Given the description of an element on the screen output the (x, y) to click on. 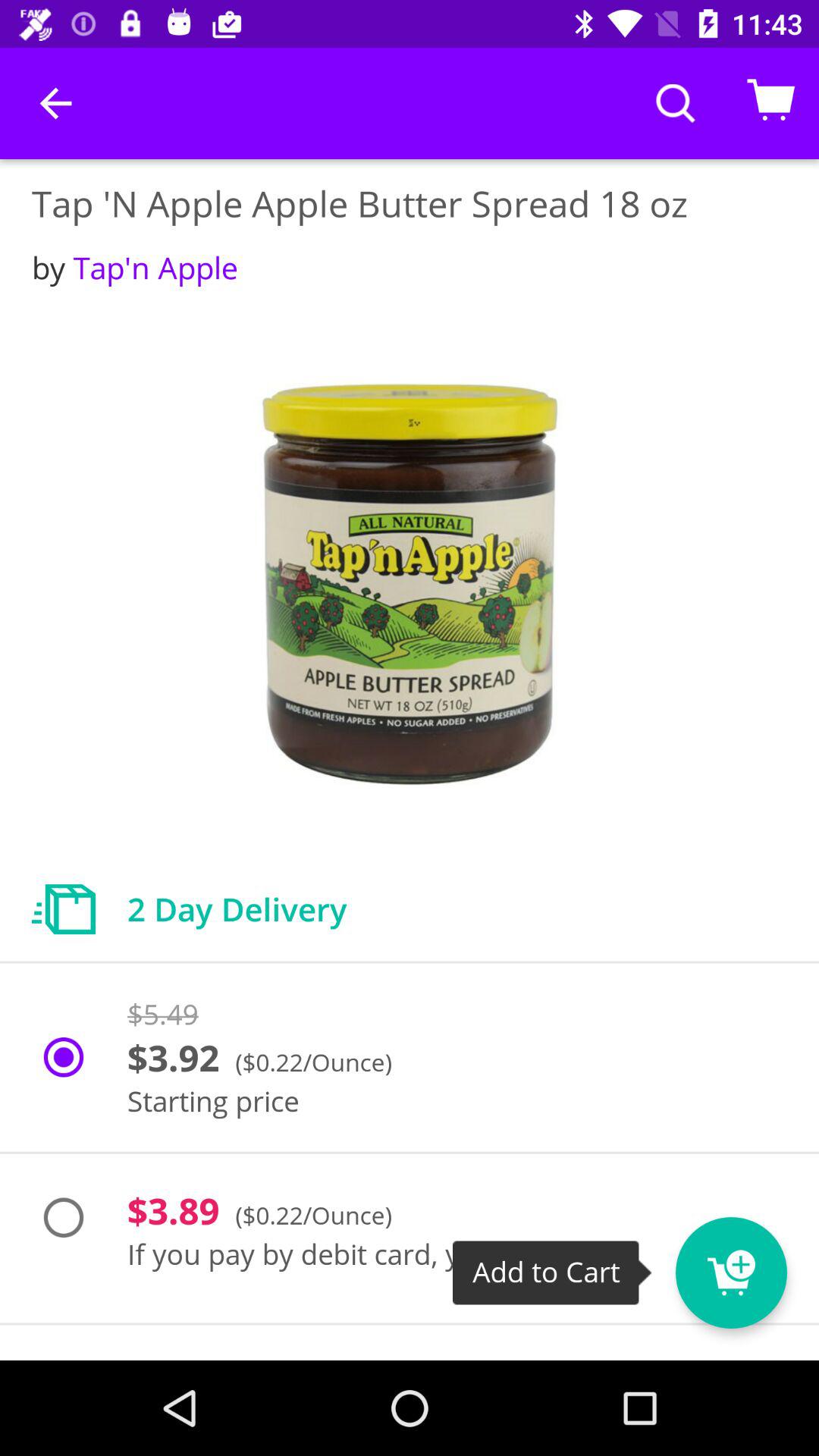
add to shopping cart (759, 1263)
